Given the description of an element on the screen output the (x, y) to click on. 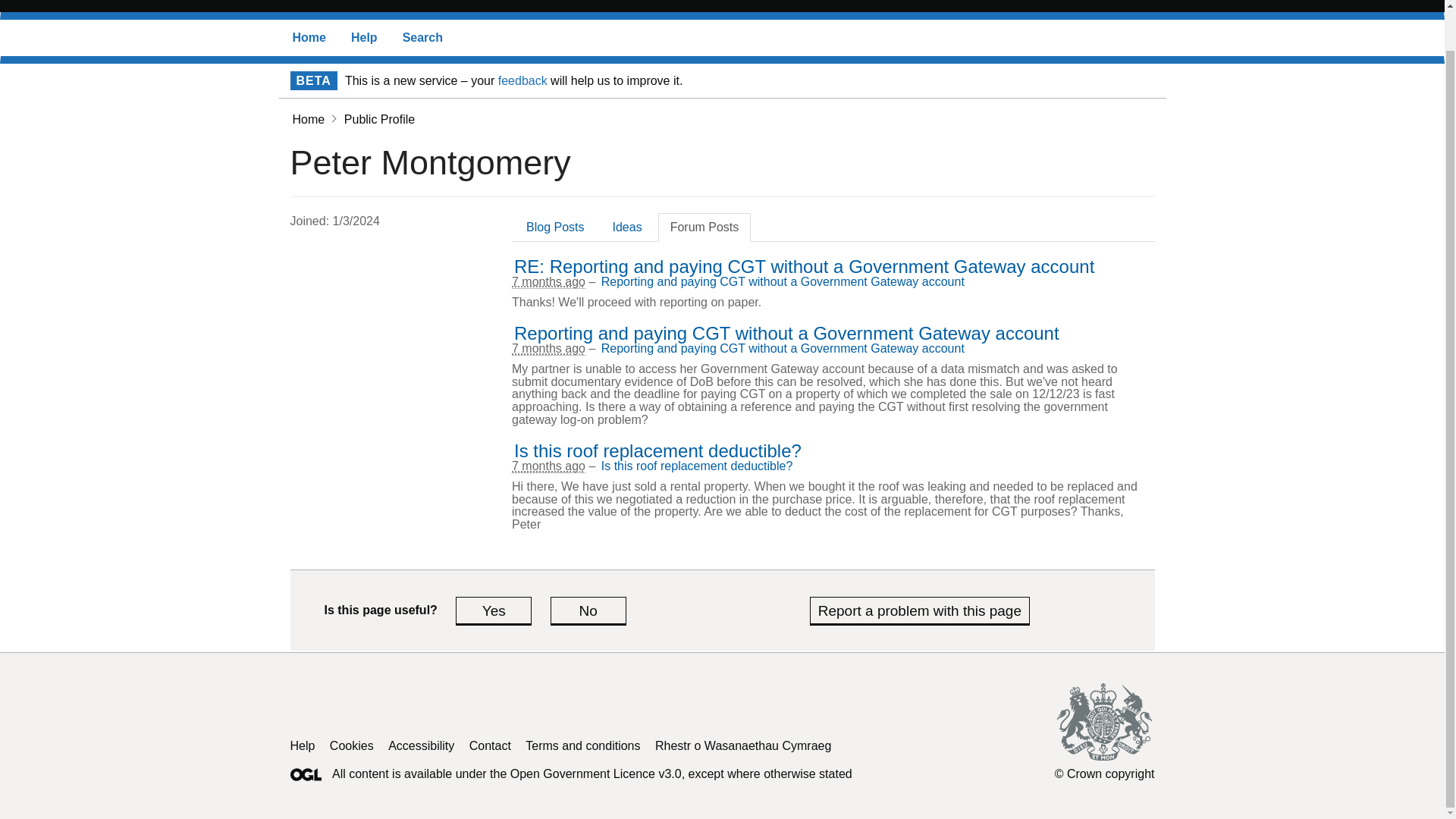
feedback (522, 80)
Accessibility (421, 745)
Contact (489, 745)
Is this roof replacement deductible? (657, 450)
Help (363, 37)
Home (308, 119)
Home (309, 37)
Is this roof replacement deductible? (657, 450)
Open Government Licence v3.0 (596, 773)
